Given the description of an element on the screen output the (x, y) to click on. 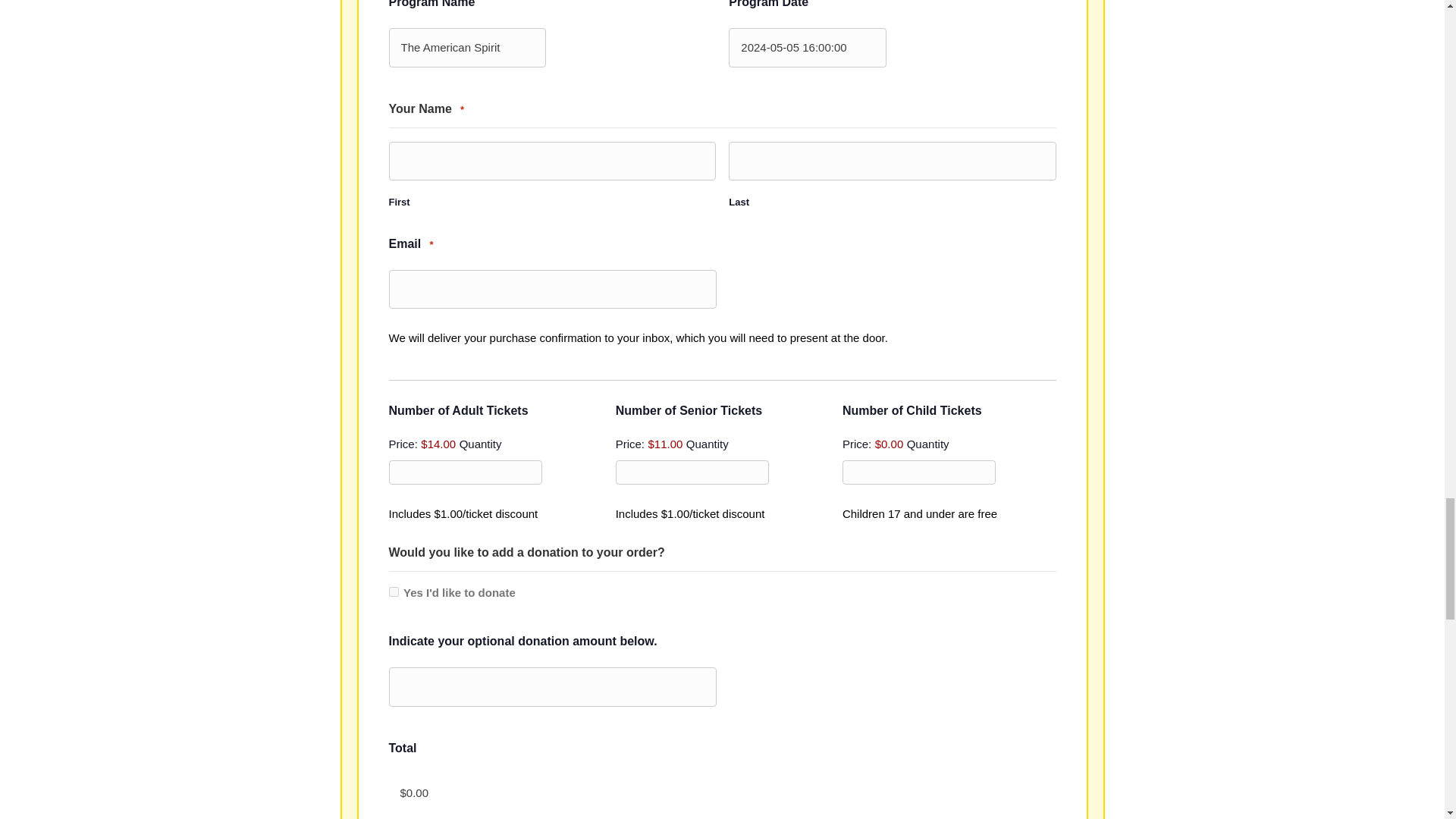
donor (392, 592)
The American Spirit (467, 47)
2024-05-05 16:00:00 (807, 47)
